Given the description of an element on the screen output the (x, y) to click on. 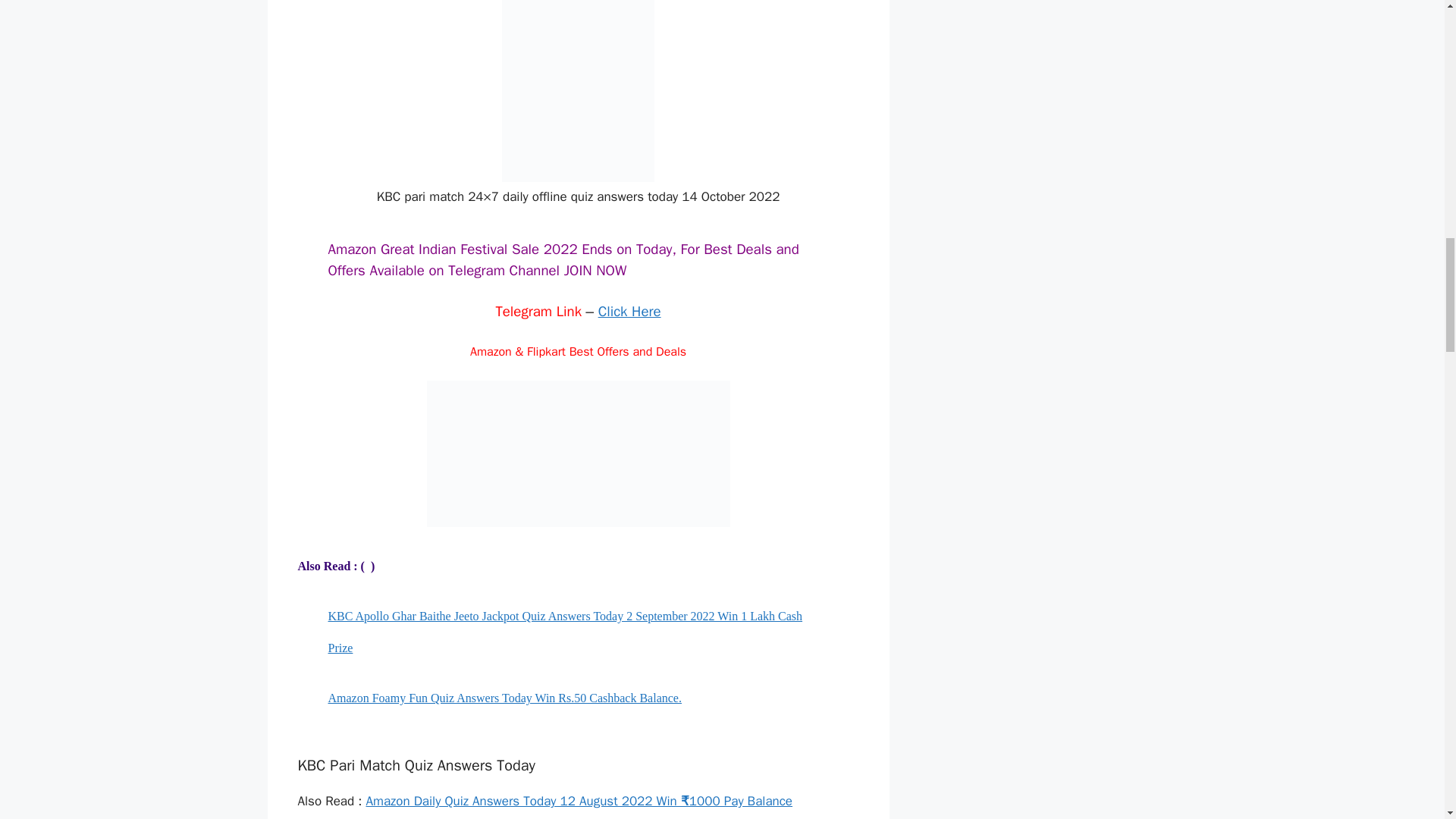
Click Here (629, 311)
